Given the description of an element on the screen output the (x, y) to click on. 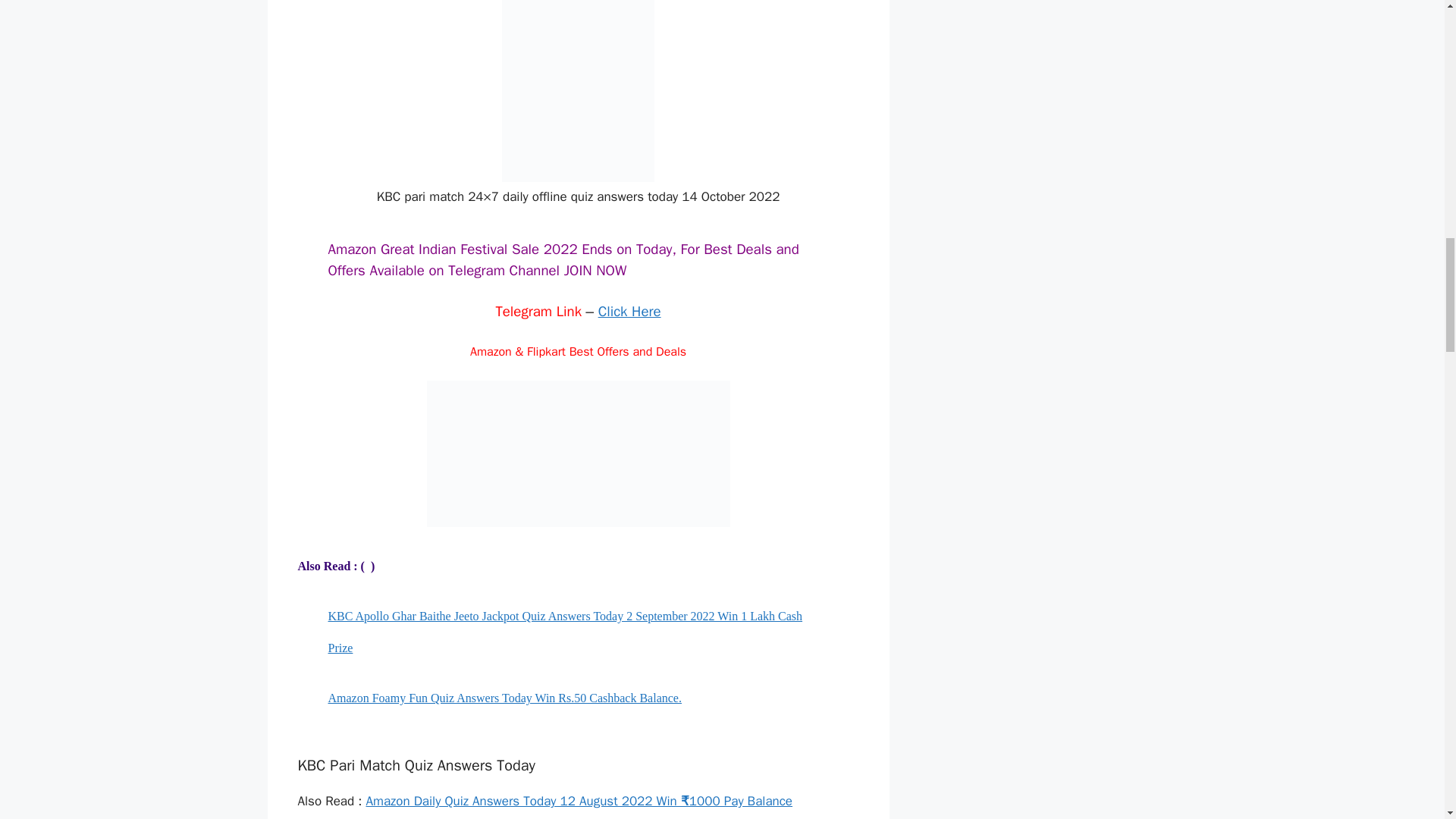
Click Here (629, 311)
